Given the description of an element on the screen output the (x, y) to click on. 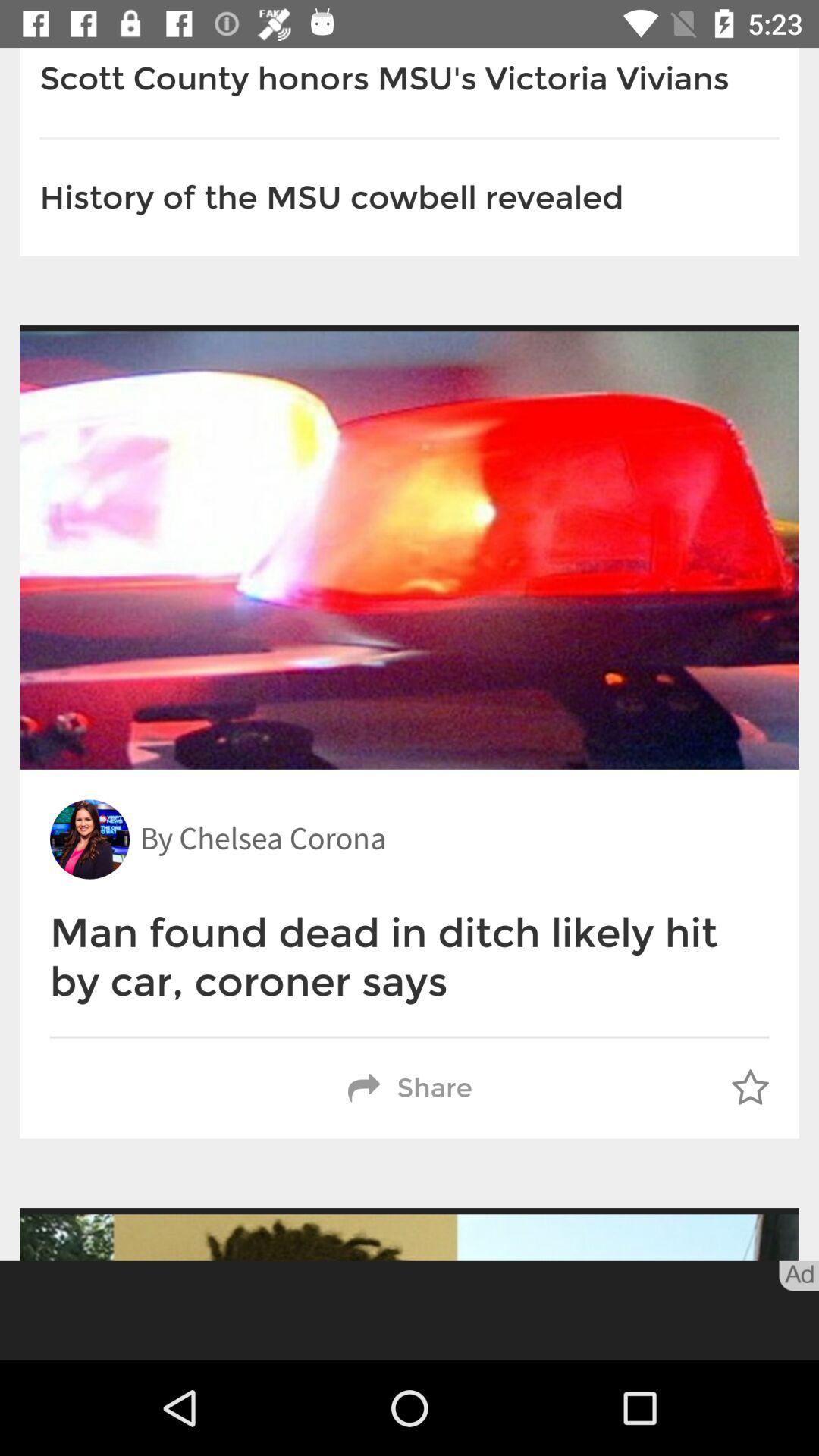
swipe until the by chelsea corona icon (262, 839)
